Given the description of an element on the screen output the (x, y) to click on. 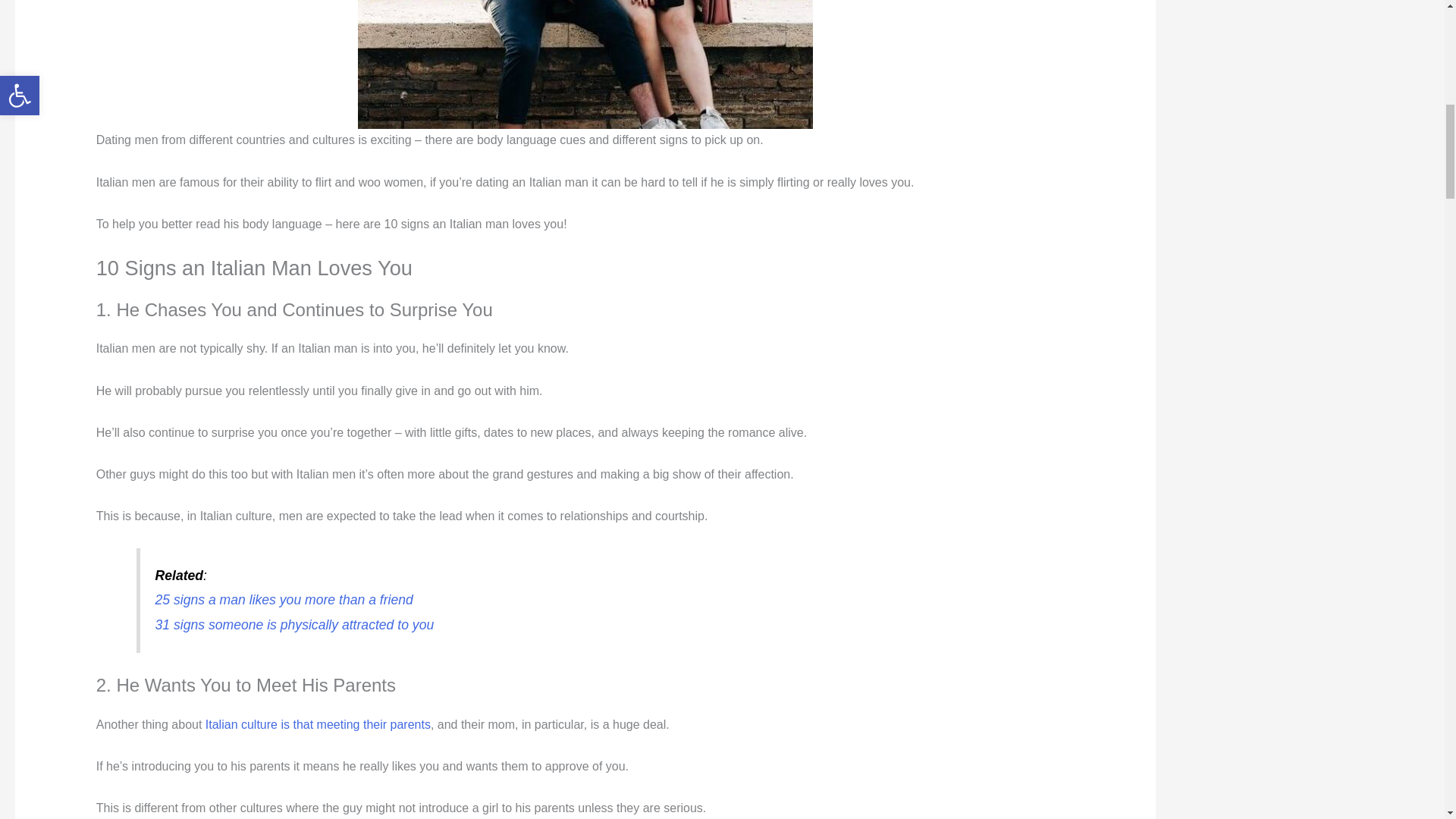
Italian culture is that meeting their parents (317, 724)
25 signs a man likes you more than a friend (284, 599)
31 signs someone is physically attracted to you (294, 624)
